Given the description of an element on the screen output the (x, y) to click on. 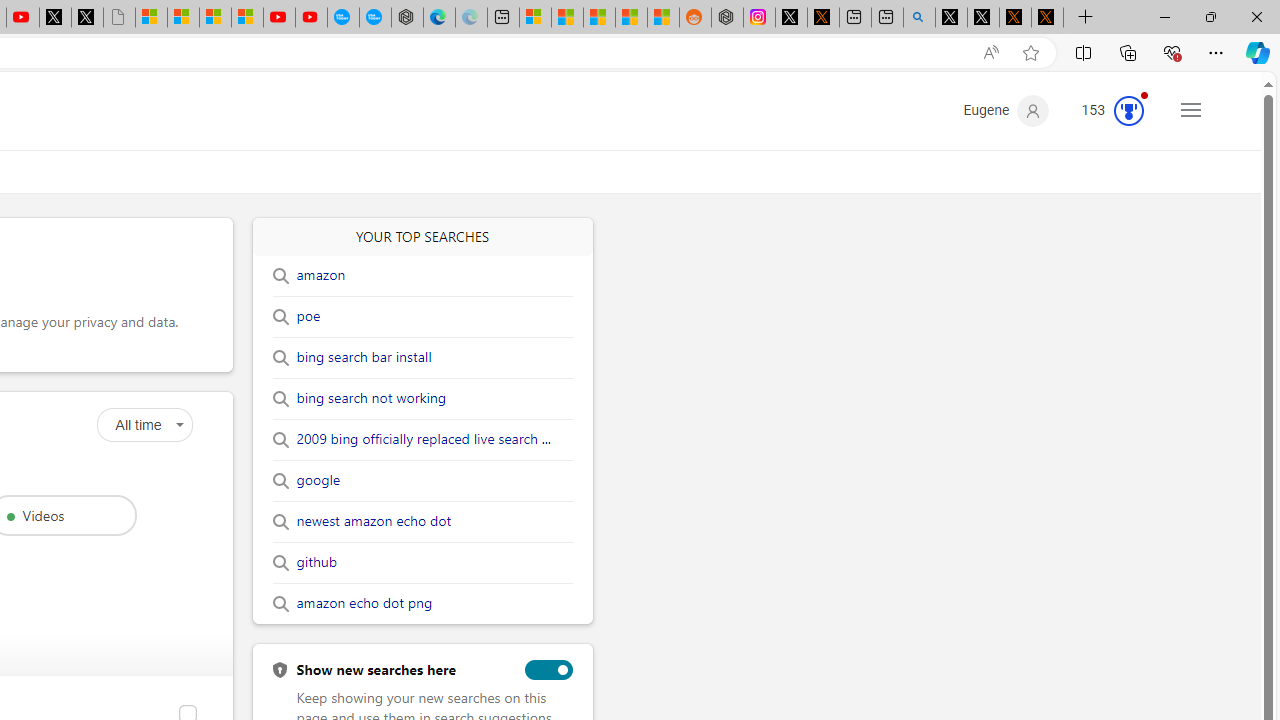
google (317, 480)
Shanghai, China hourly forecast | Microsoft Weather (599, 17)
Nordace - Nordace has arrived Hong Kong (407, 17)
help.x.com | 524: A timeout occurred (822, 17)
Untitled (118, 17)
Microsoft Rewards 153 (1105, 110)
The most popular Google 'how to' searches (374, 17)
bing search not working (370, 398)
newest amazon echo dot (373, 521)
